Given the description of an element on the screen output the (x, y) to click on. 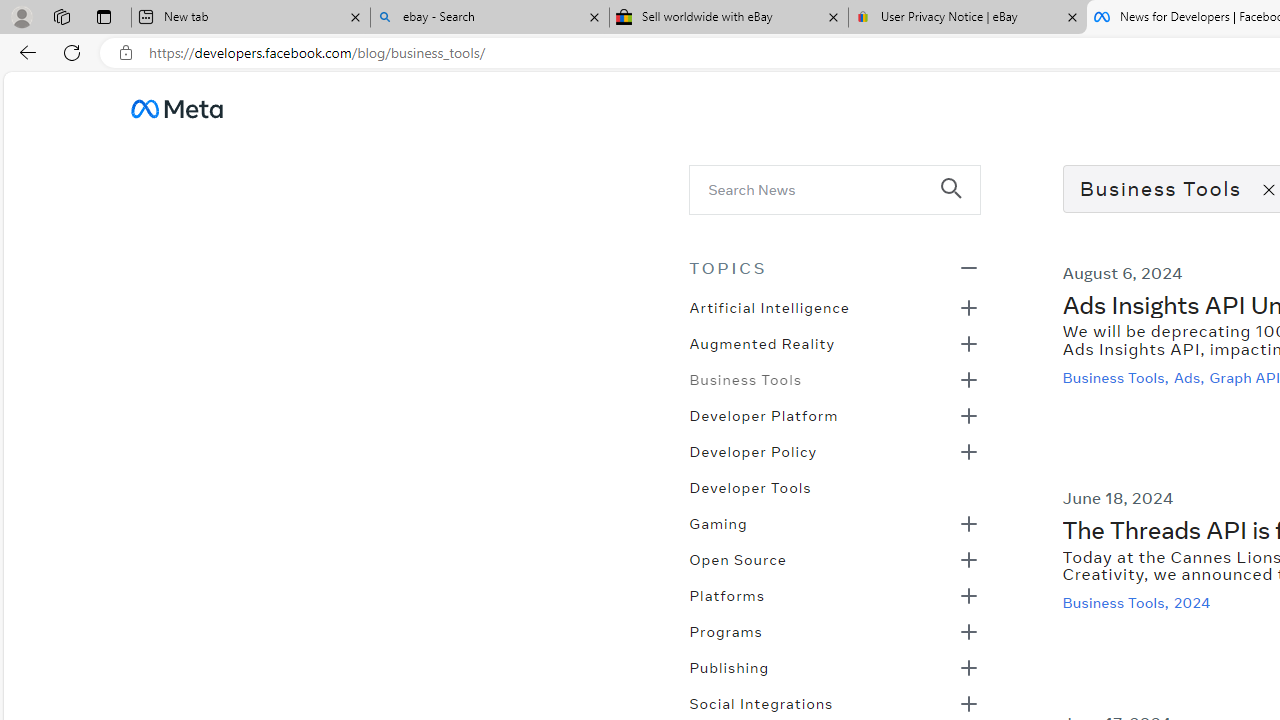
Tab actions menu (104, 16)
Social Integrations (761, 701)
2024 (1194, 602)
Personal Profile (21, 16)
Programs (725, 629)
Business Tools, (1117, 602)
Business Tools (745, 377)
Augmented Reality (761, 341)
Platforms (726, 593)
Artificial Intelligence (768, 305)
Developer Tools (749, 485)
Back (24, 52)
Class: _9890 _98ey (834, 267)
Class: _98ex (834, 493)
ebay - Search (490, 17)
